Given the description of an element on the screen output the (x, y) to click on. 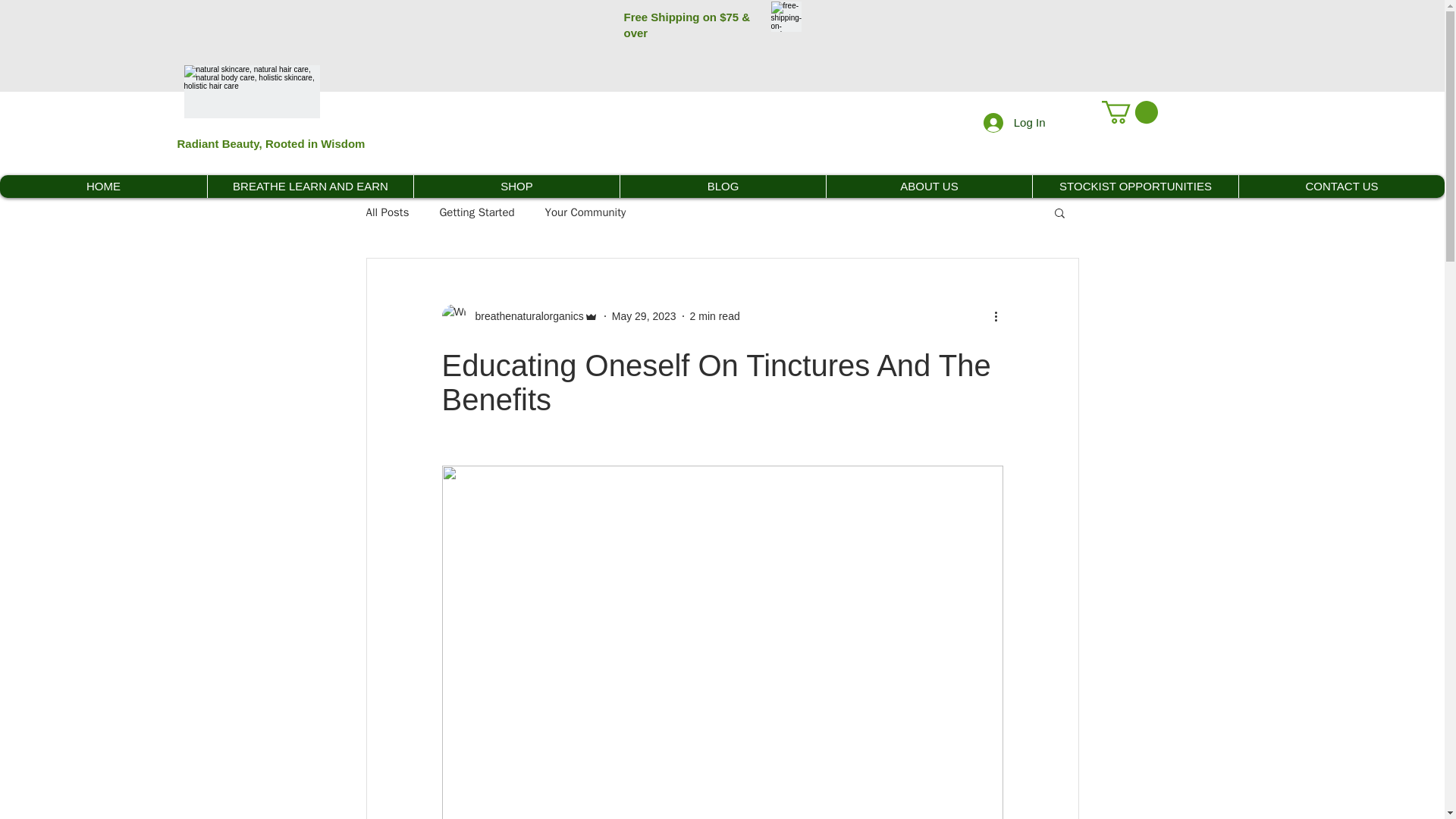
All Posts (387, 211)
Log In (1014, 121)
ABOUT US (928, 186)
HOME (103, 186)
breathenaturalorganics (524, 315)
BLOG (722, 186)
BREATHE LEARN AND EARN (309, 186)
Getting Started (476, 211)
STOCKIST OPPORTUNITIES (1135, 186)
2 min read (714, 315)
